Given the description of an element on the screen output the (x, y) to click on. 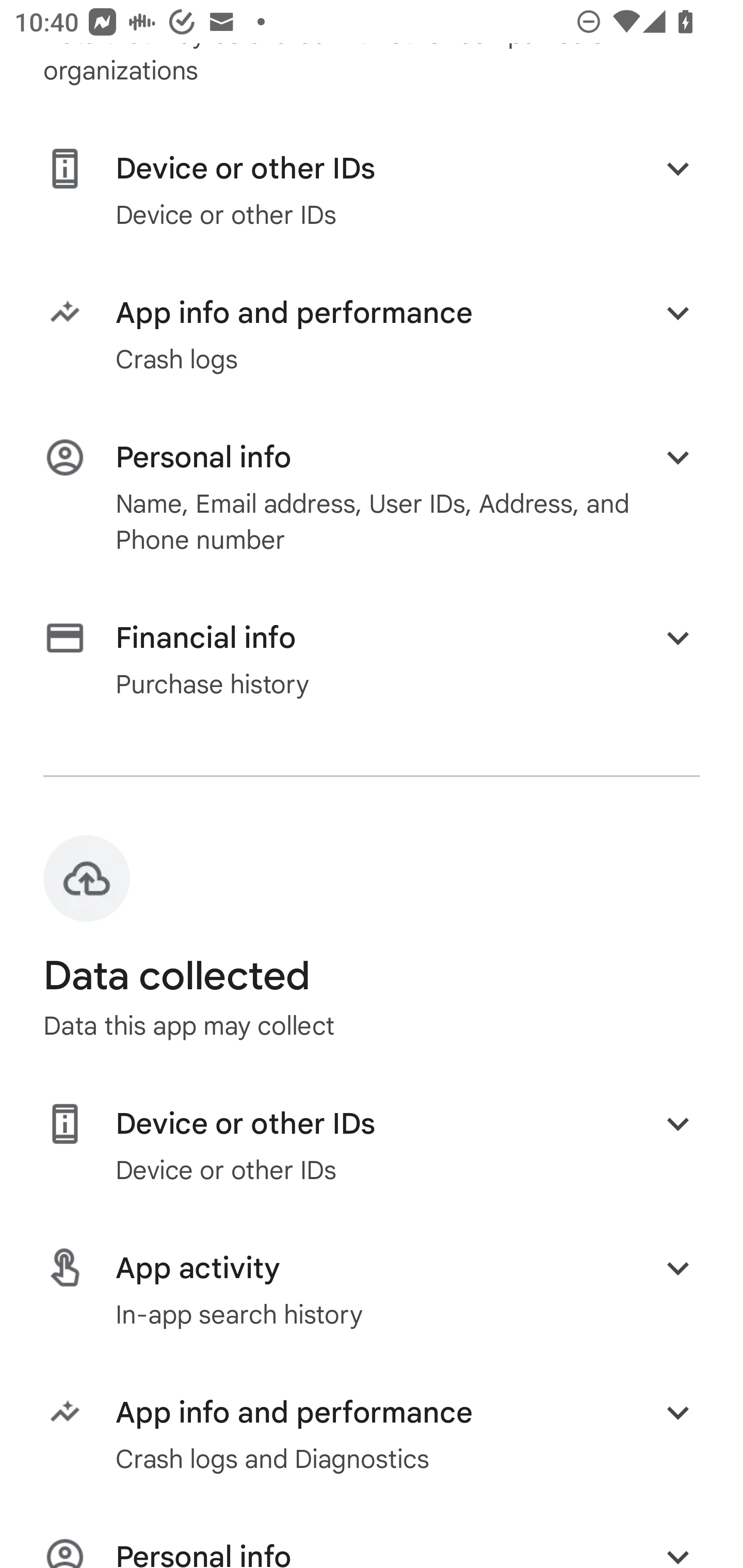
heading Personal info Expand button (371, 1551)
